Given the description of an element on the screen output the (x, y) to click on. 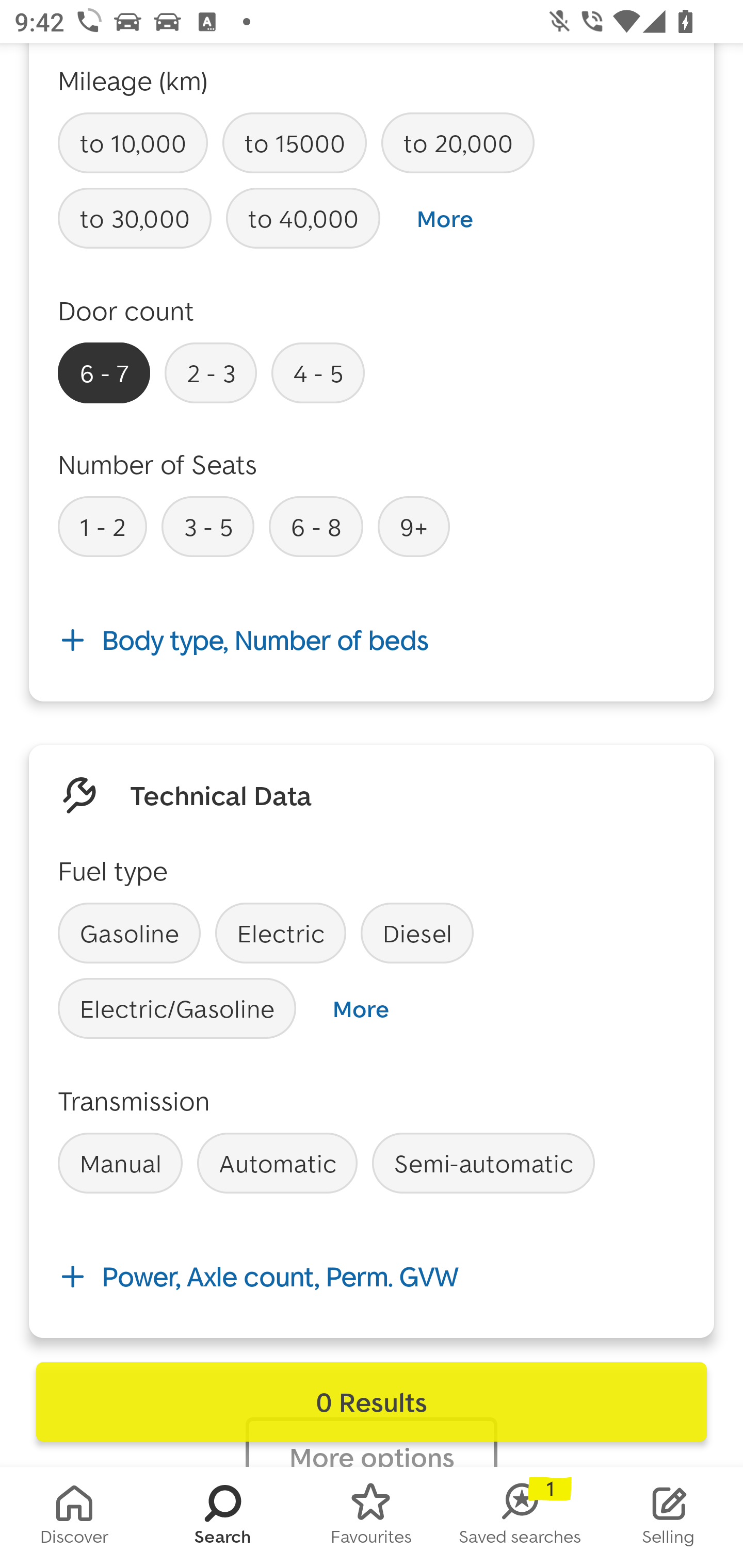
Mileage (km) (132, 79)
to 10,000 (132, 143)
to 15000 (294, 143)
to 20,000 (457, 143)
to 30,000 (134, 218)
to 40,000 (302, 218)
More (444, 218)
Door count (125, 310)
6 - 7 (103, 371)
2 - 3 (210, 371)
4 - 5 (317, 371)
Number of Seats (157, 463)
1 - 2 (102, 525)
3 - 5 (207, 525)
6 - 8 (315, 525)
9+ (413, 525)
Body type, Number of beds (371, 640)
Technical Data (221, 794)
Fuel type (112, 869)
Gasoline (128, 932)
Electric (280, 932)
Diesel (417, 932)
Electric/Gasoline (176, 1008)
More (360, 1008)
Transmission (133, 1100)
Manual (119, 1162)
Automatic (276, 1162)
Semi-automatic (483, 1162)
Power, Axle count, Perm. GVW (371, 1276)
0 Results (371, 1401)
HOMESCREEN Discover (74, 1517)
SEARCH Search (222, 1517)
FAVORITES Favourites (371, 1517)
SAVED_SEARCHES Saved searches 1 (519, 1517)
STOCK_LIST Selling (668, 1517)
